Given the description of an element on the screen output the (x, y) to click on. 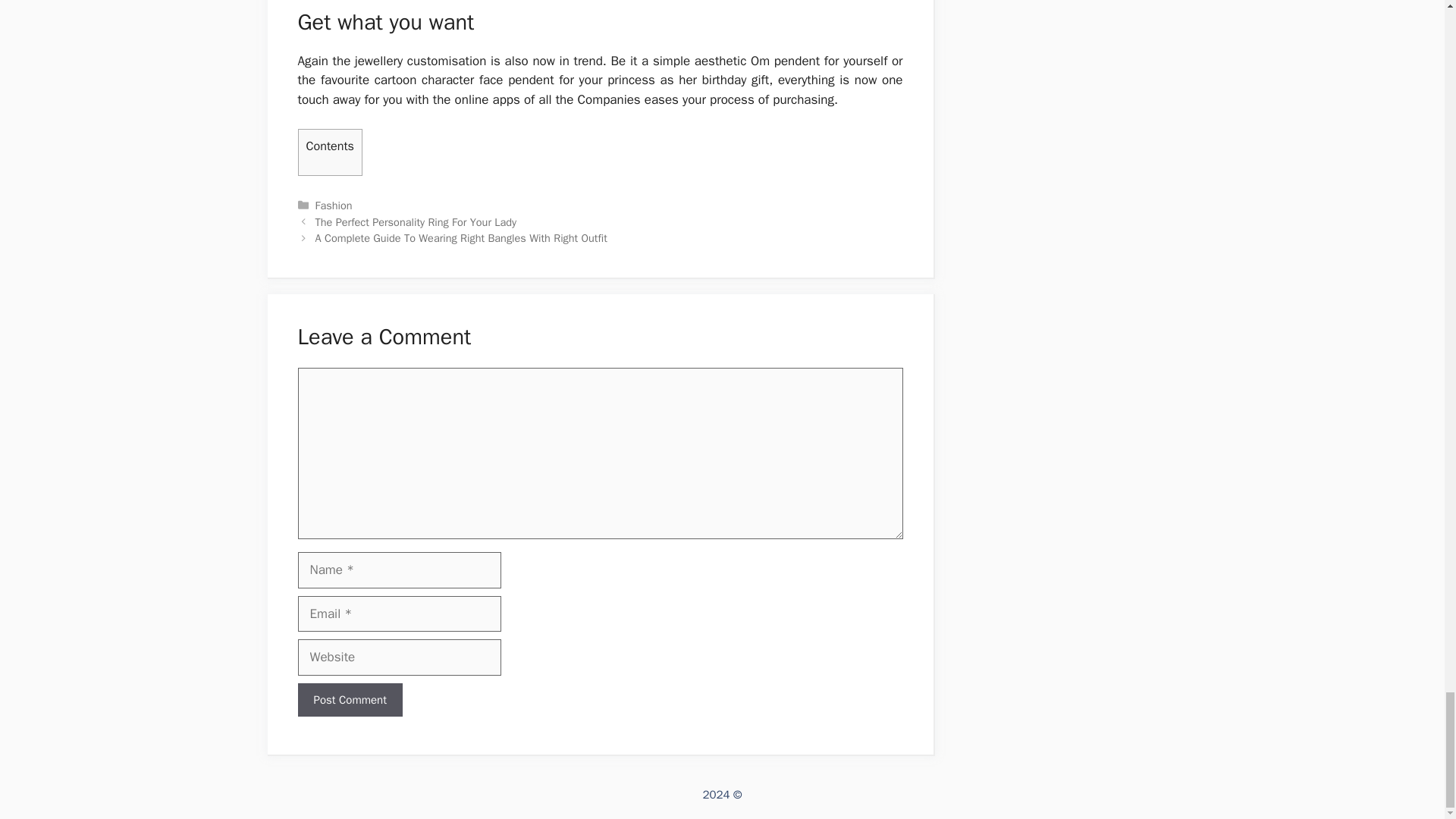
Fashion (333, 205)
Post Comment (349, 700)
The Perfect Personality Ring For Your Lady (415, 222)
Post Comment (349, 700)
A Complete Guide To Wearing Right Bangles With Right Outfit (461, 237)
